Given the description of an element on the screen output the (x, y) to click on. 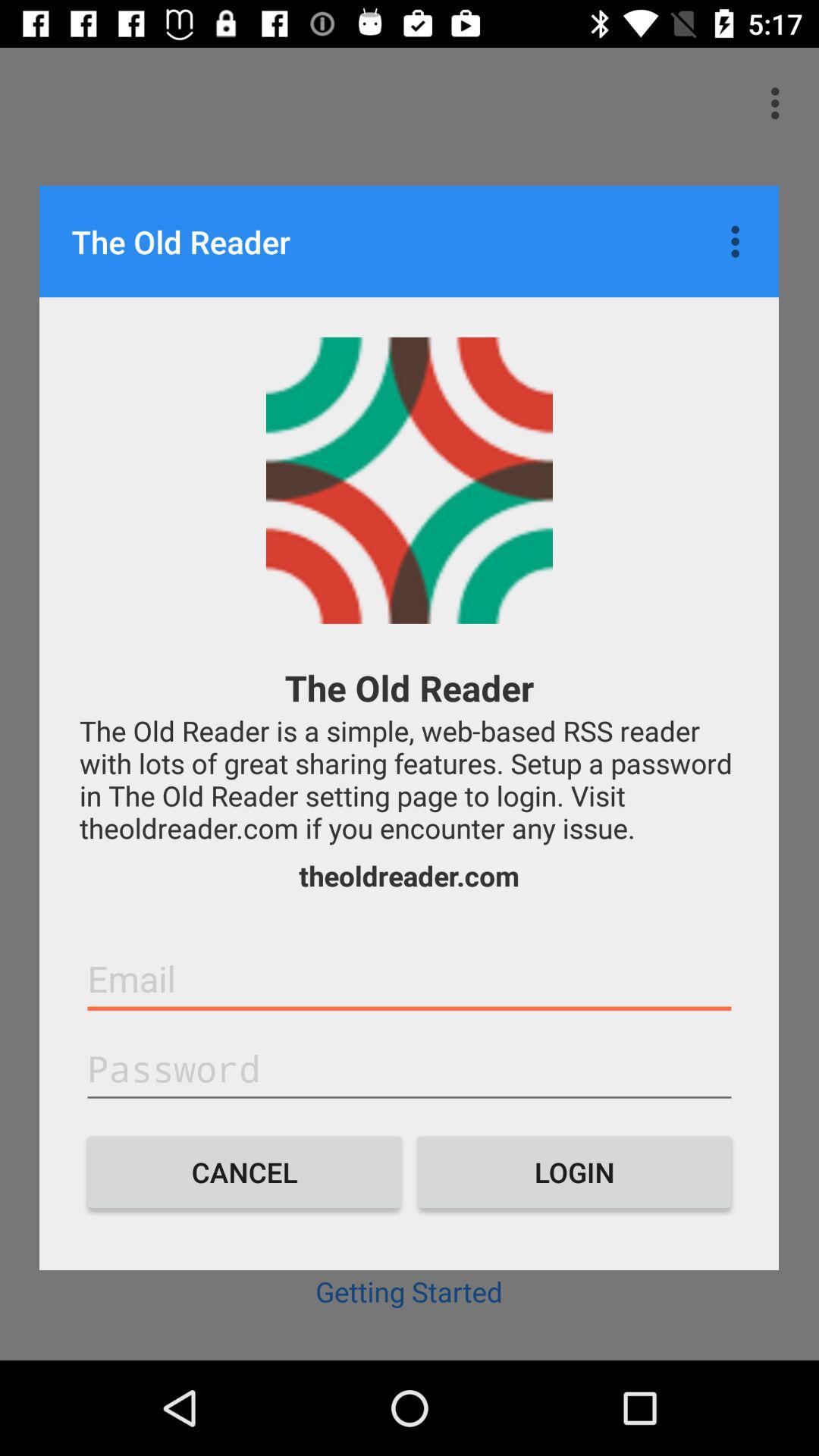
e-mail field (409, 979)
